Given the description of an element on the screen output the (x, y) to click on. 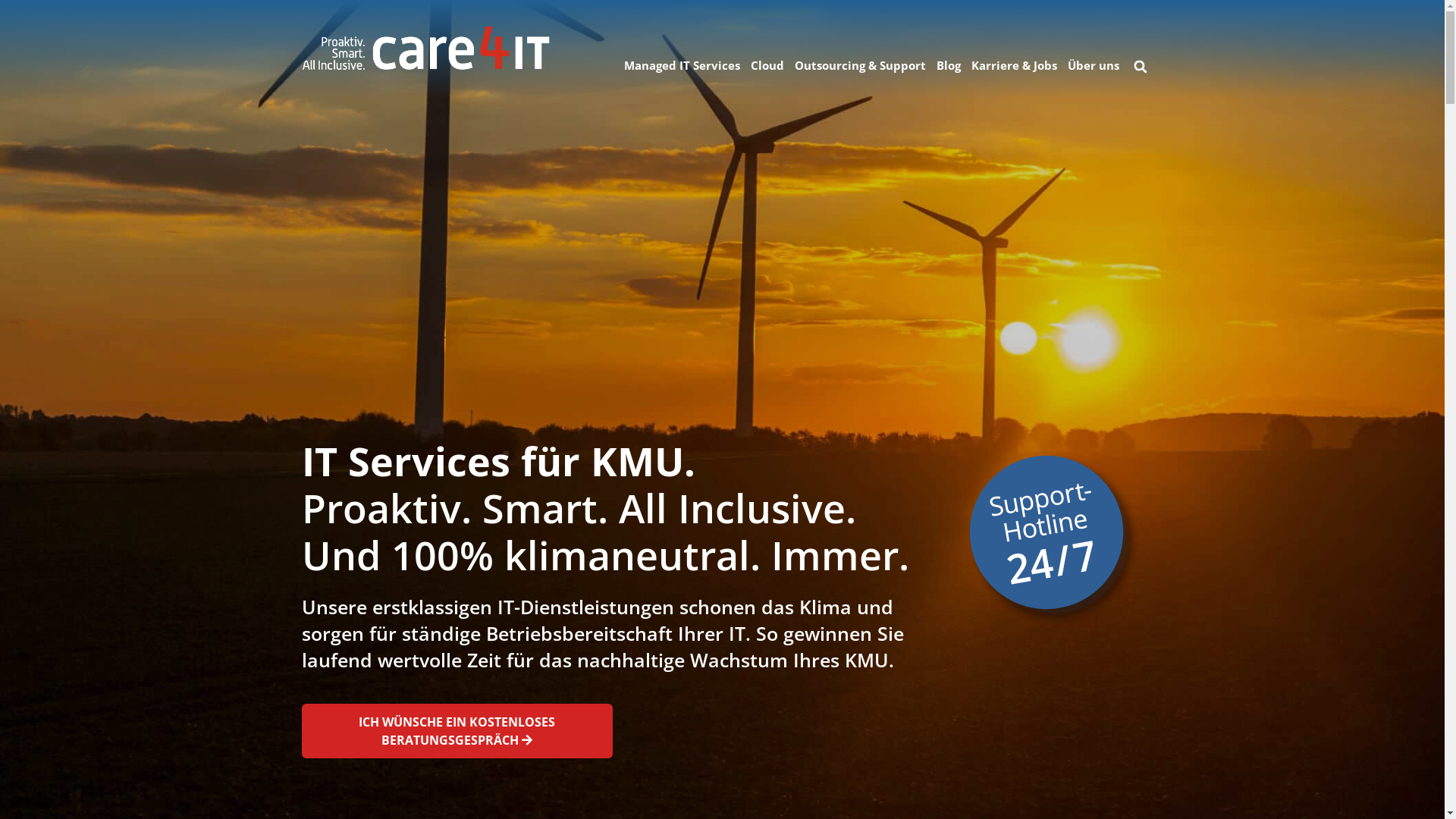
Managed IT Services Element type: text (682, 64)
Blog Element type: text (948, 64)
Cloud Element type: text (767, 64)
Outsourcing & Support Element type: text (860, 64)
Karriere & Jobs Element type: text (1014, 64)
